Given the description of an element on the screen output the (x, y) to click on. 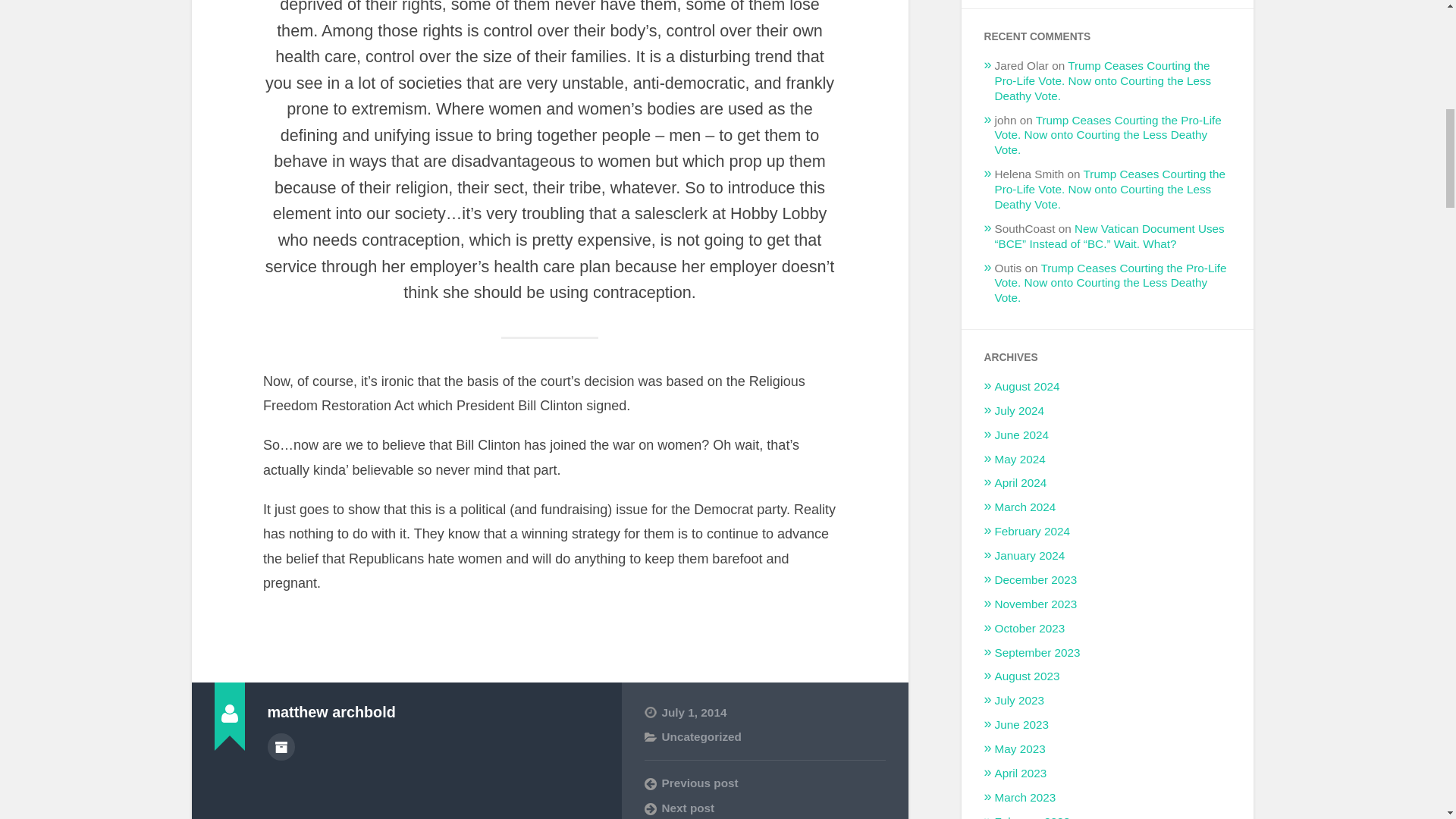
Previous post (765, 783)
June 2024 (1021, 434)
March 2024 (1025, 506)
November 2023 (1035, 603)
May 2024 (1019, 459)
July 2024 (1018, 410)
August 2024 (1026, 386)
April 2024 (1020, 481)
